Given the description of an element on the screen output the (x, y) to click on. 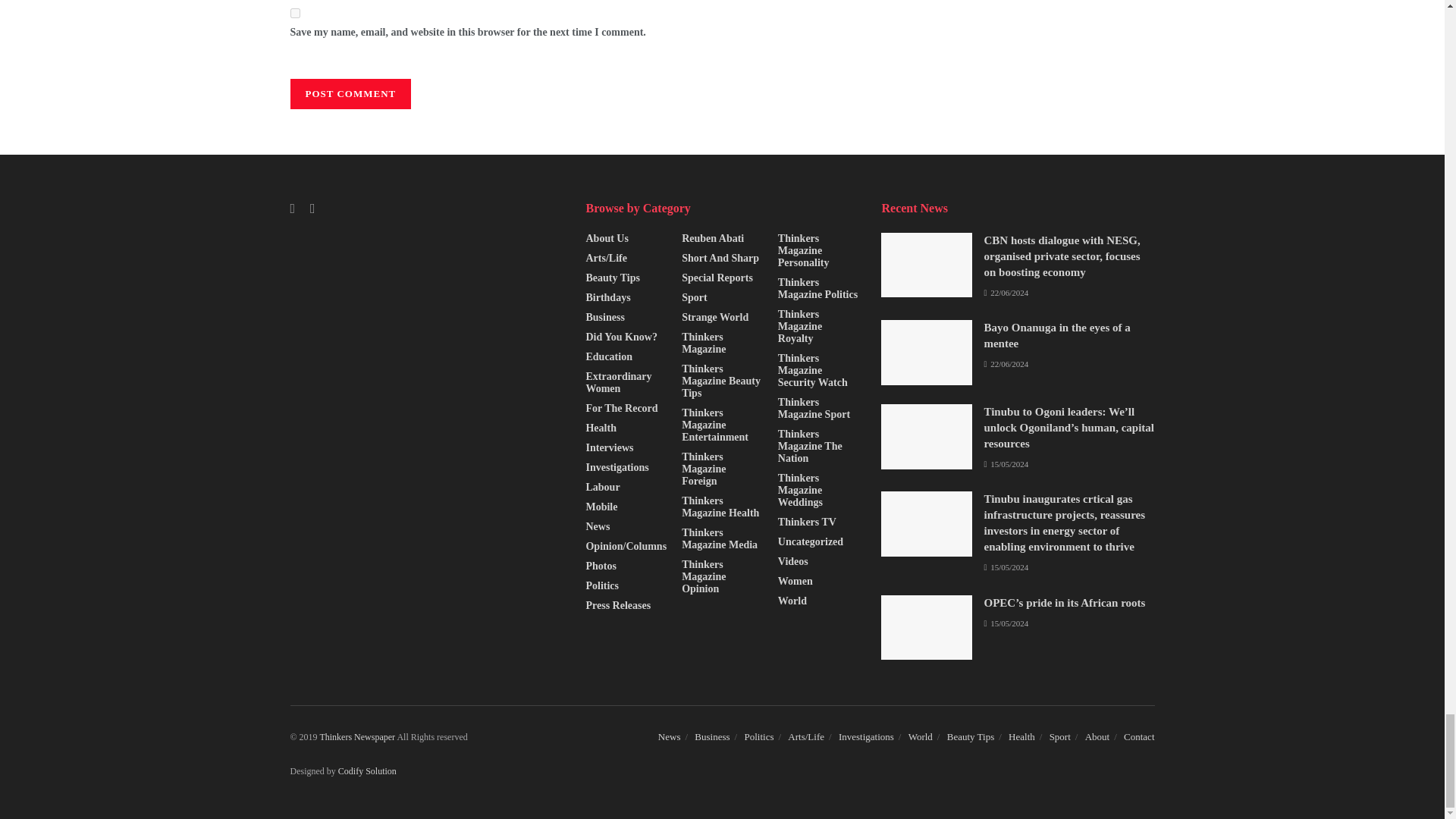
yes (294, 13)
Top News Site (357, 737)
Post Comment (349, 93)
